Given the description of an element on the screen output the (x, y) to click on. 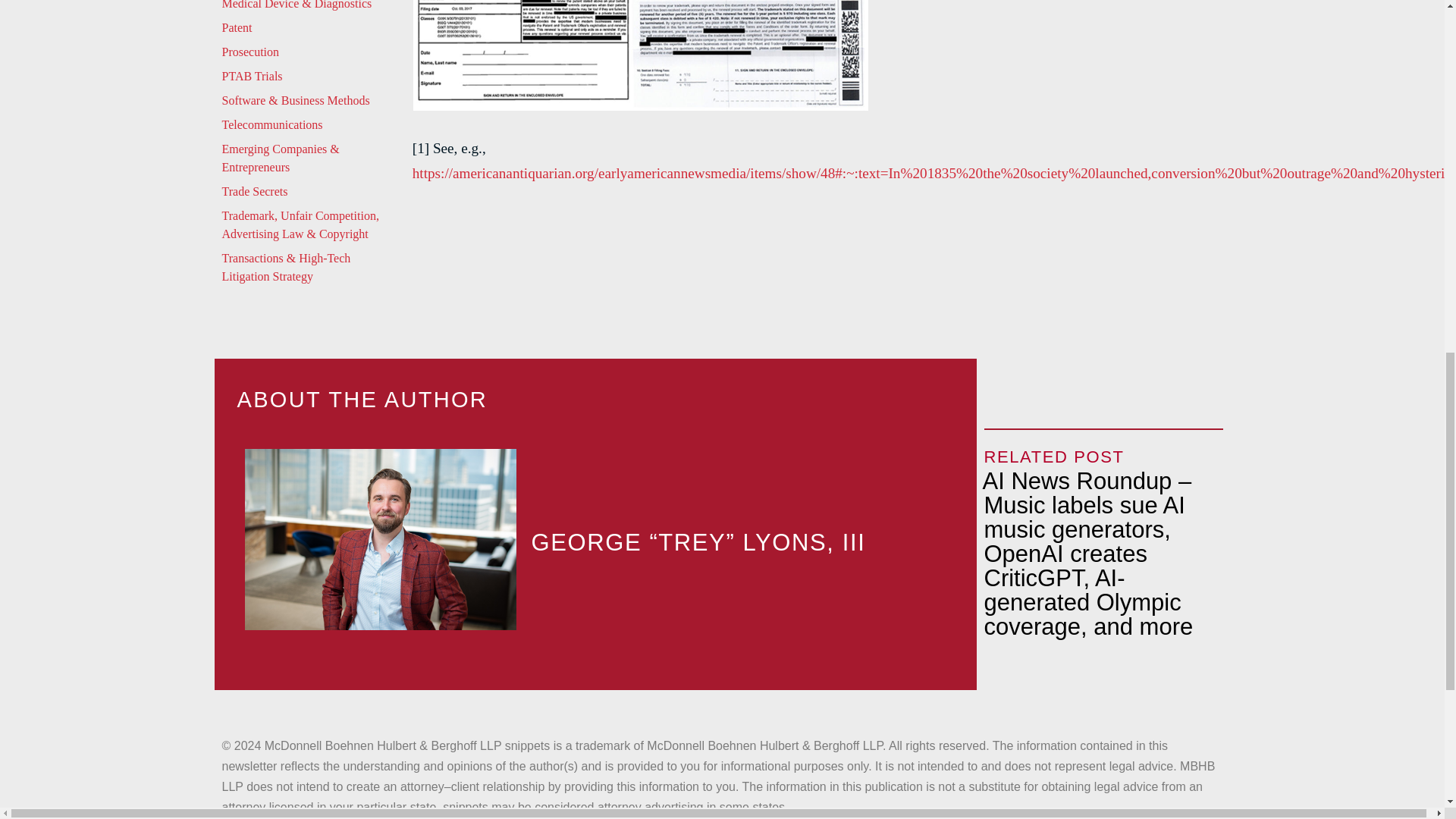
Telecommunications (308, 128)
Prosecution (308, 55)
PTAB Trials (308, 79)
Trade Secrets (308, 194)
Patent (308, 30)
